Given the description of an element on the screen output the (x, y) to click on. 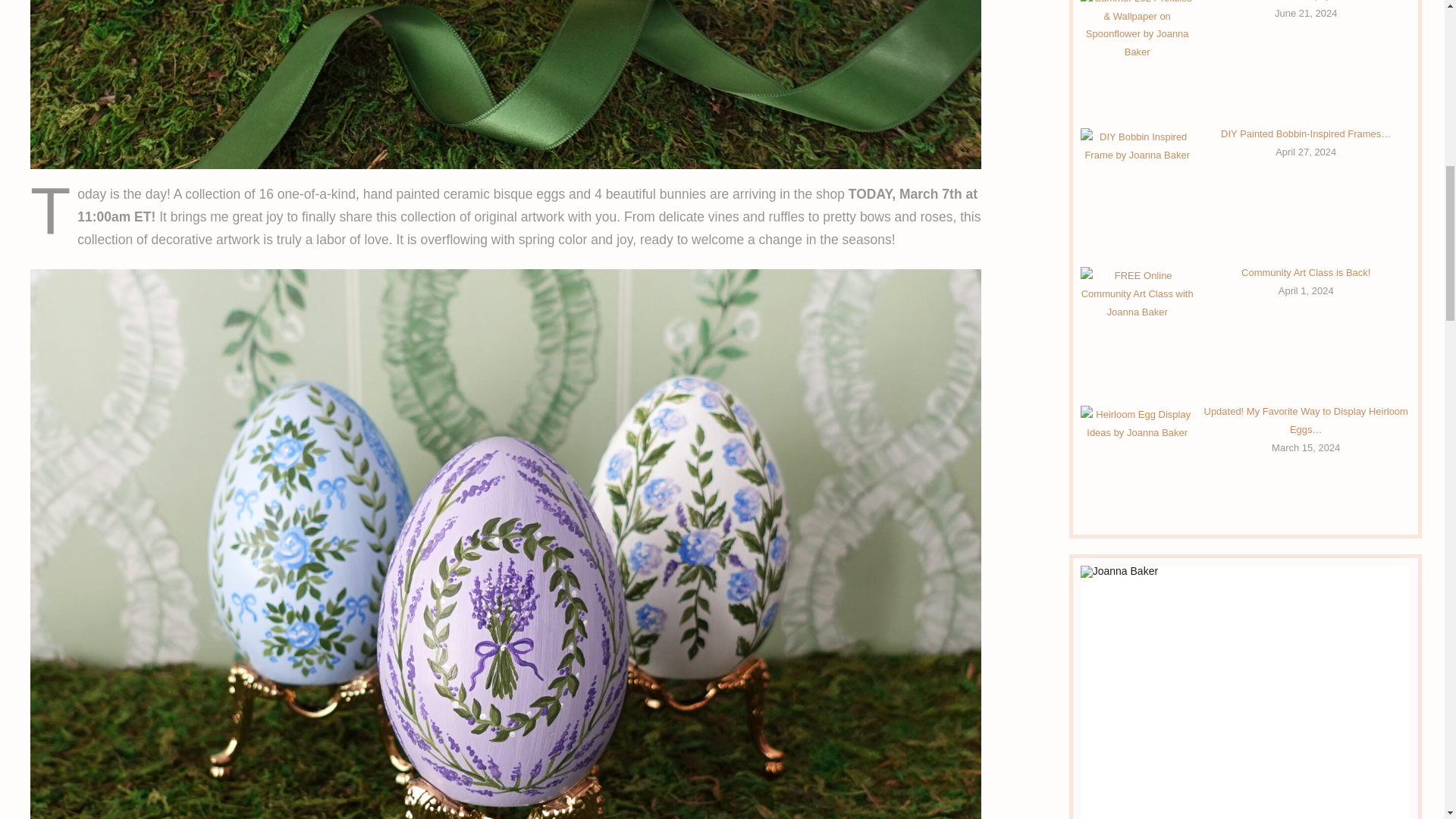
Community Art Class is Back! (1305, 272)
